Given the description of an element on the screen output the (x, y) to click on. 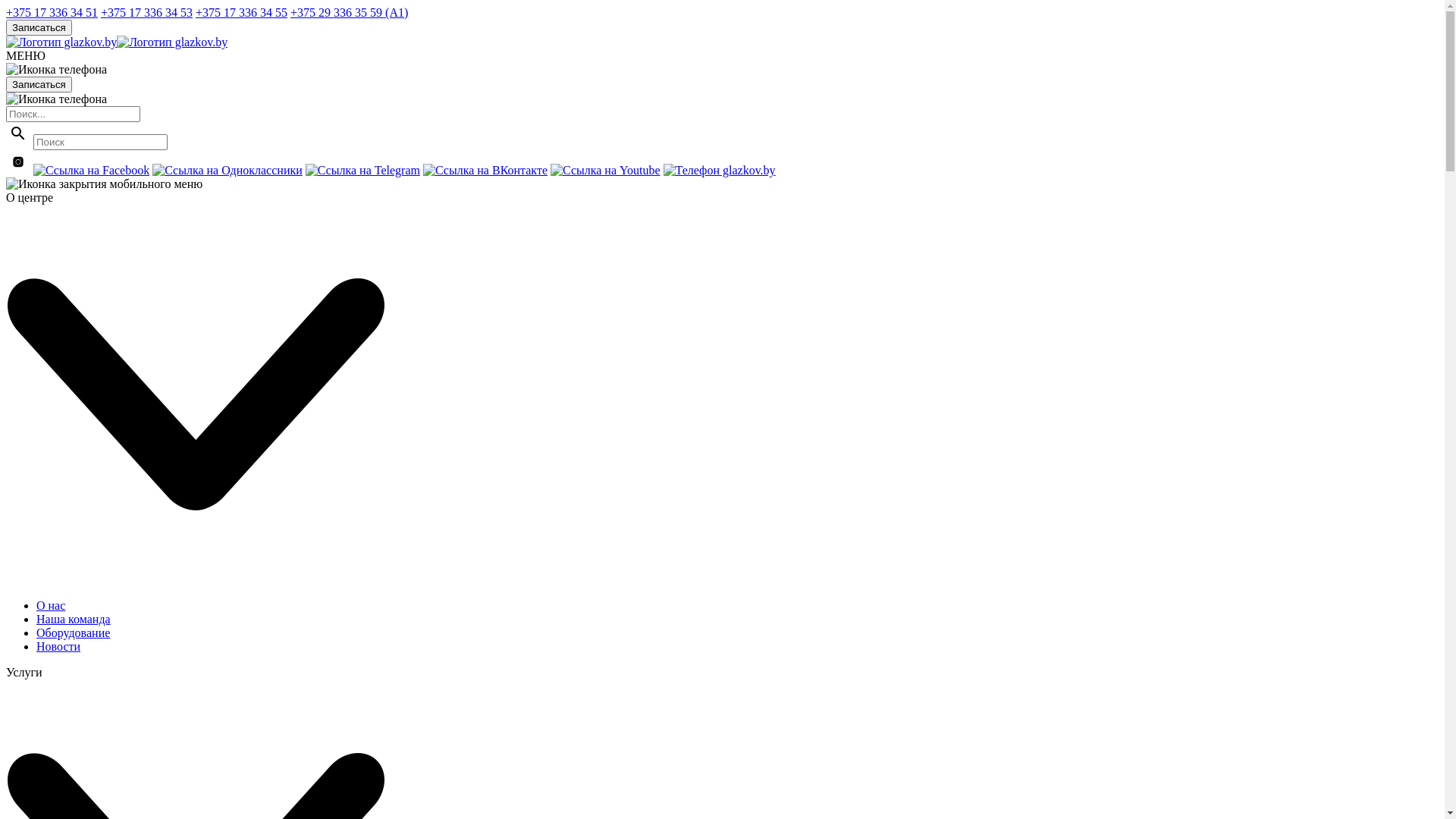
+375 17 336 34 55 Element type: text (241, 12)
+375 17 336 34 51 Element type: text (51, 12)
+375 17 336 34 53 Element type: text (146, 12)
